Given the description of an element on the screen output the (x, y) to click on. 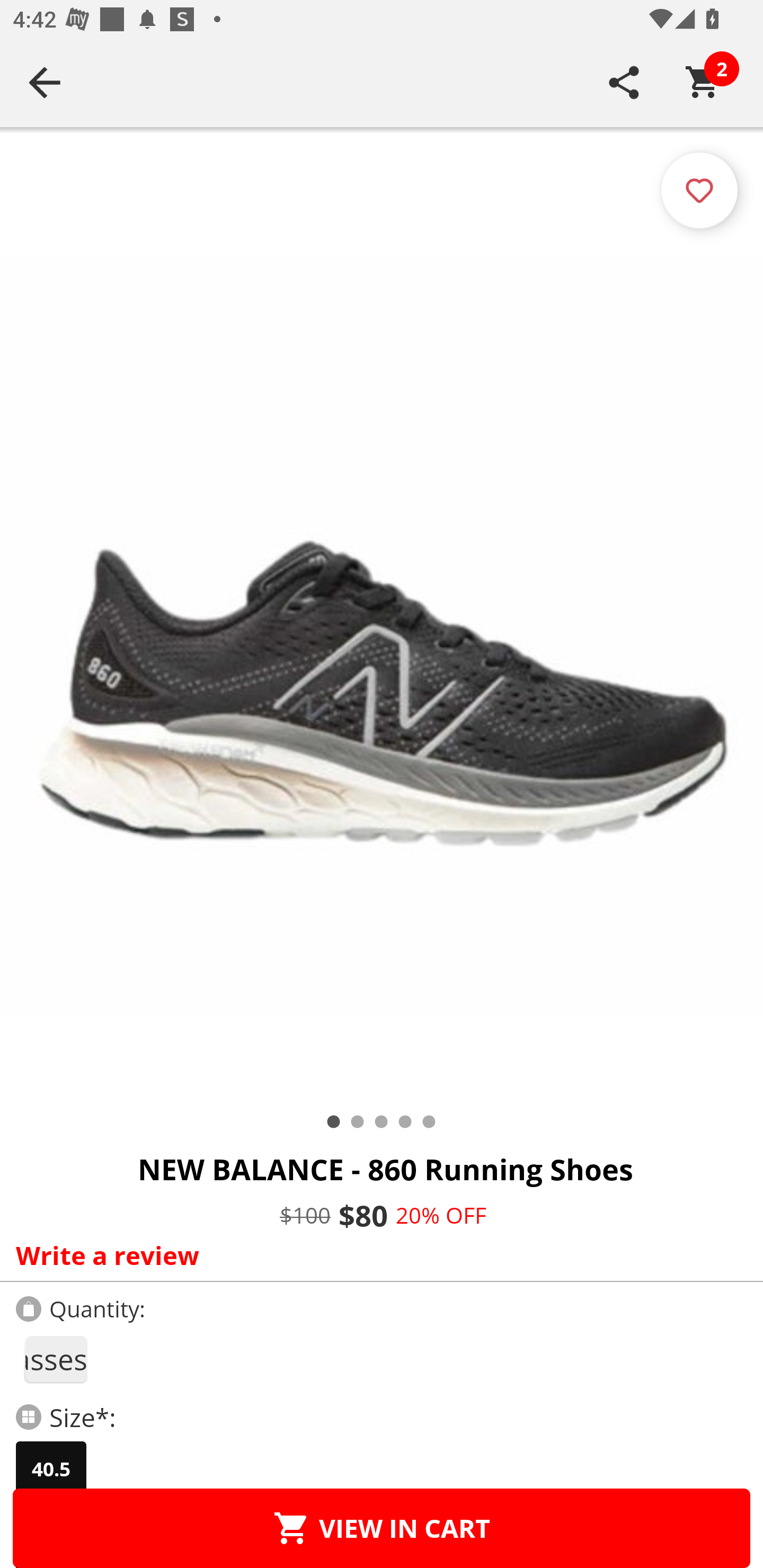
Navigate up (44, 82)
SHARE (623, 82)
Cart (703, 81)
Write a review (377, 1255)
1sunglasses (55, 1358)
40.5 (51, 1468)
VIEW IN CART (381, 1528)
